Given the description of an element on the screen output the (x, y) to click on. 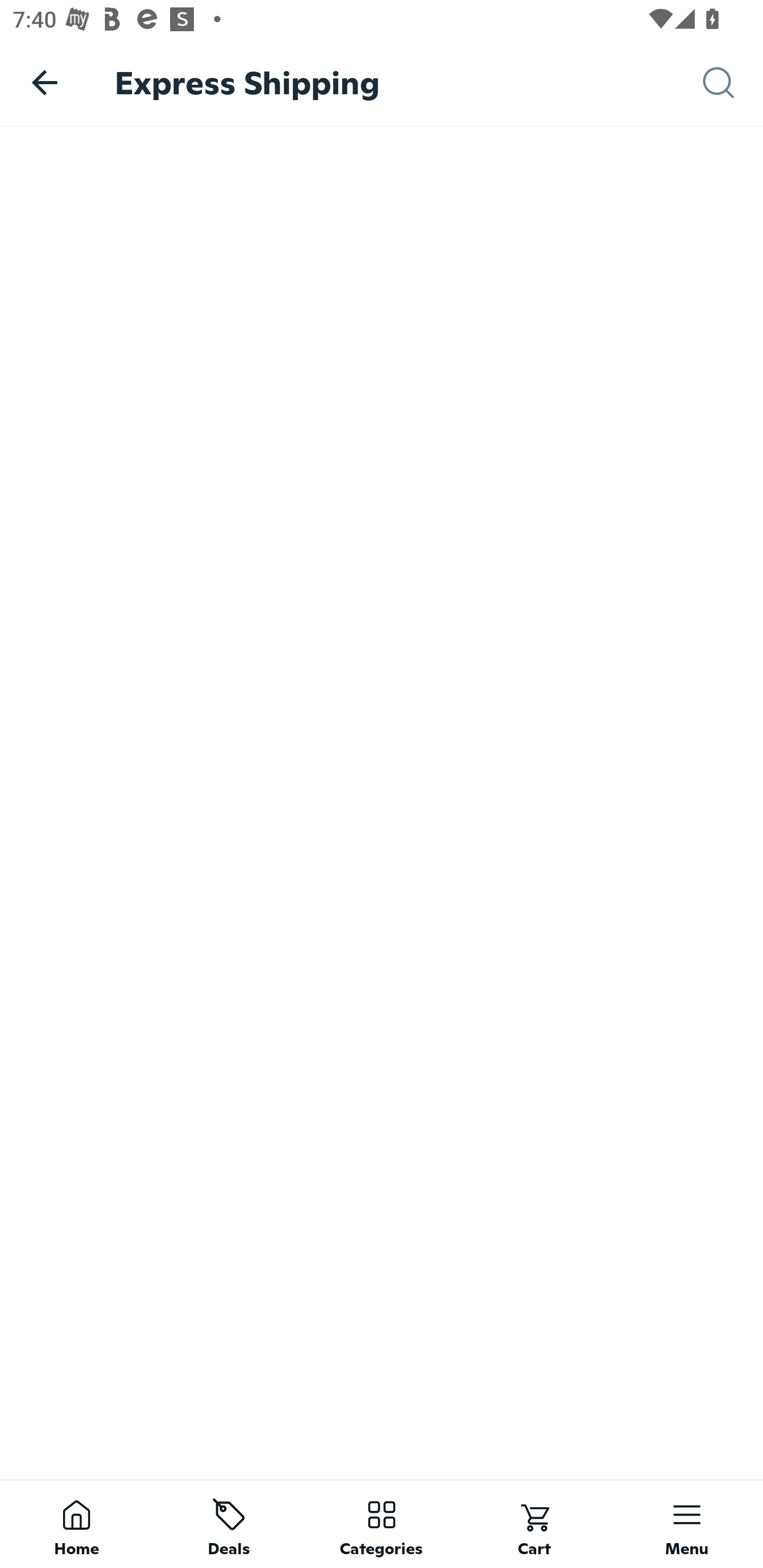
Navigate up (44, 82)
Search (732, 82)
Home (76, 1523)
Deals (228, 1523)
Categories (381, 1523)
Cart (533, 1523)
Menu (686, 1523)
